Given the description of an element on the screen output the (x, y) to click on. 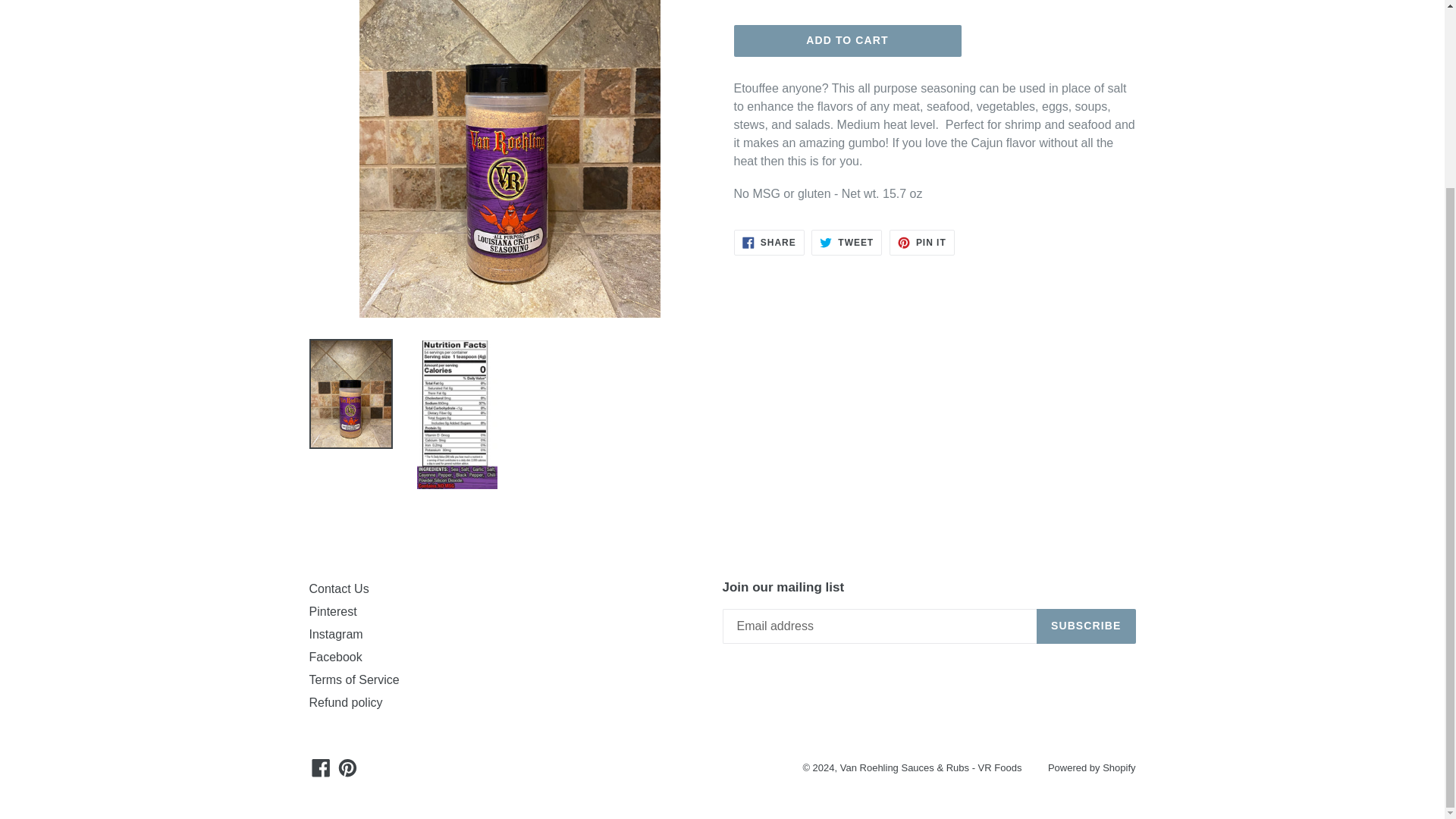
Share on Facebook (769, 242)
Pin on Pinterest (922, 242)
Tweet on Twitter (846, 242)
